Given the description of an element on the screen output the (x, y) to click on. 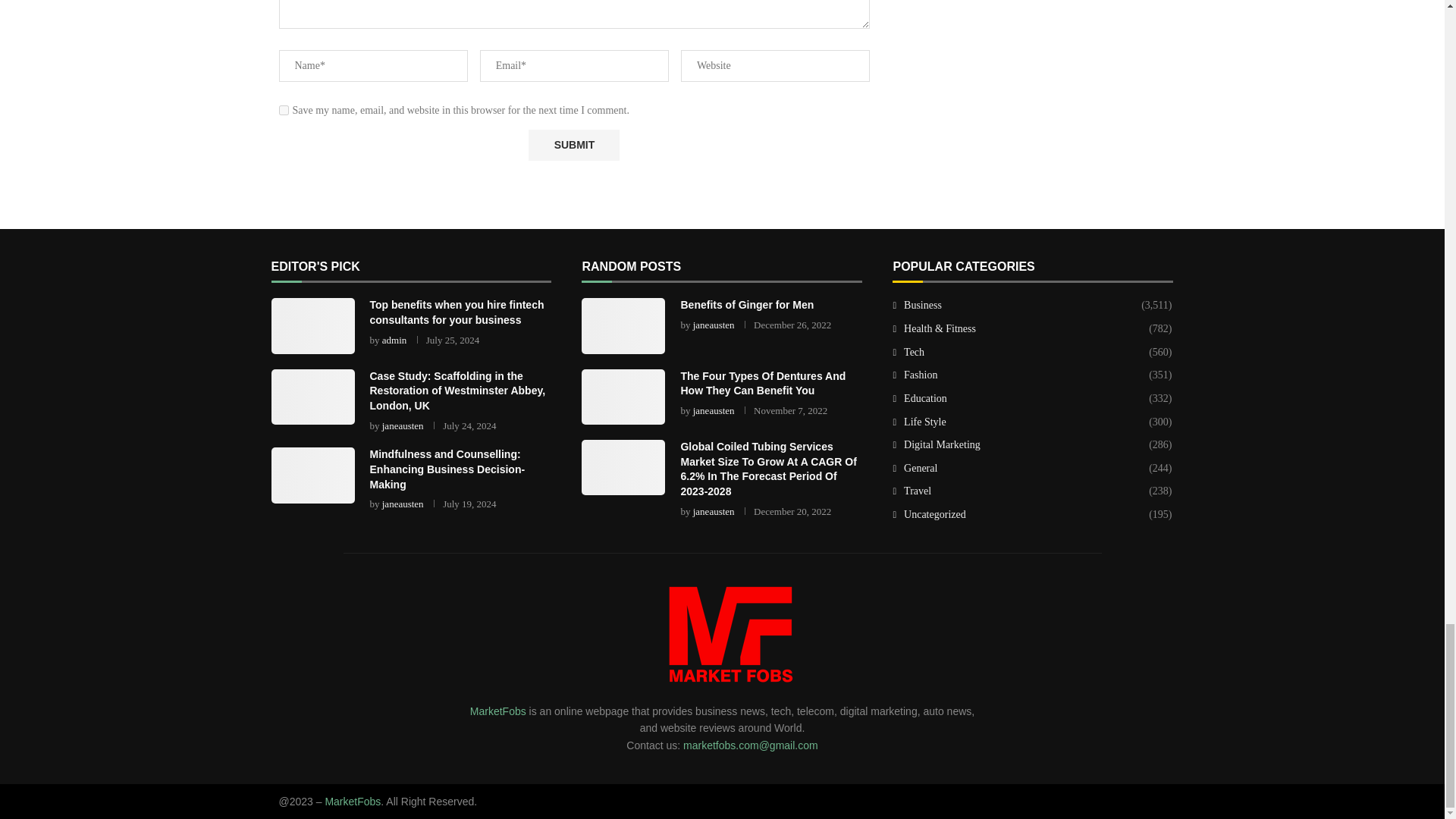
yes (283, 110)
Submit (574, 144)
